Given the description of an element on the screen output the (x, y) to click on. 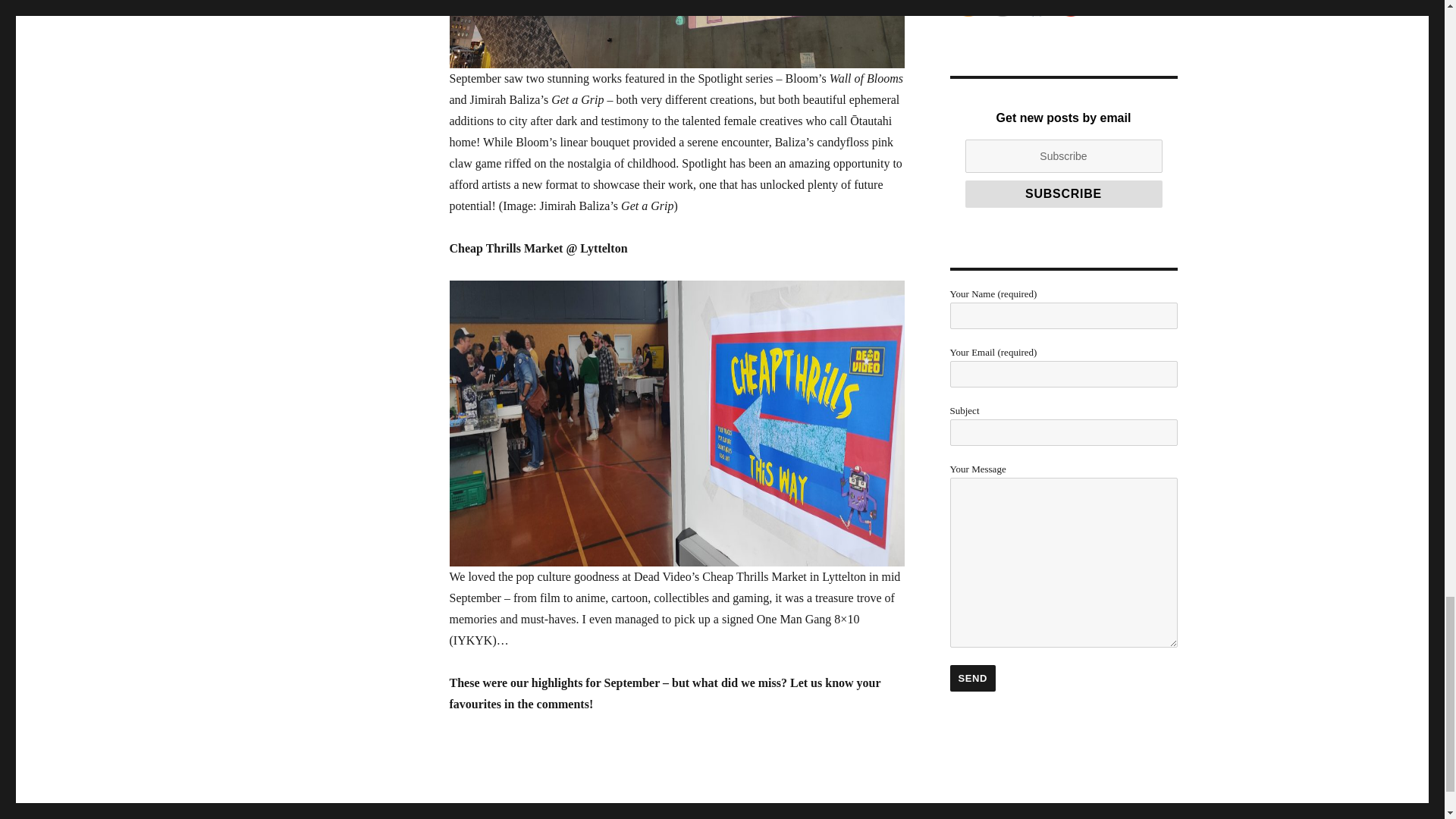
RSS (967, 8)
Instagram (1070, 8)
Facebook (1035, 8)
Follow by Email (1002, 8)
Send (972, 678)
Subscribe (1062, 194)
